Given the description of an element on the screen output the (x, y) to click on. 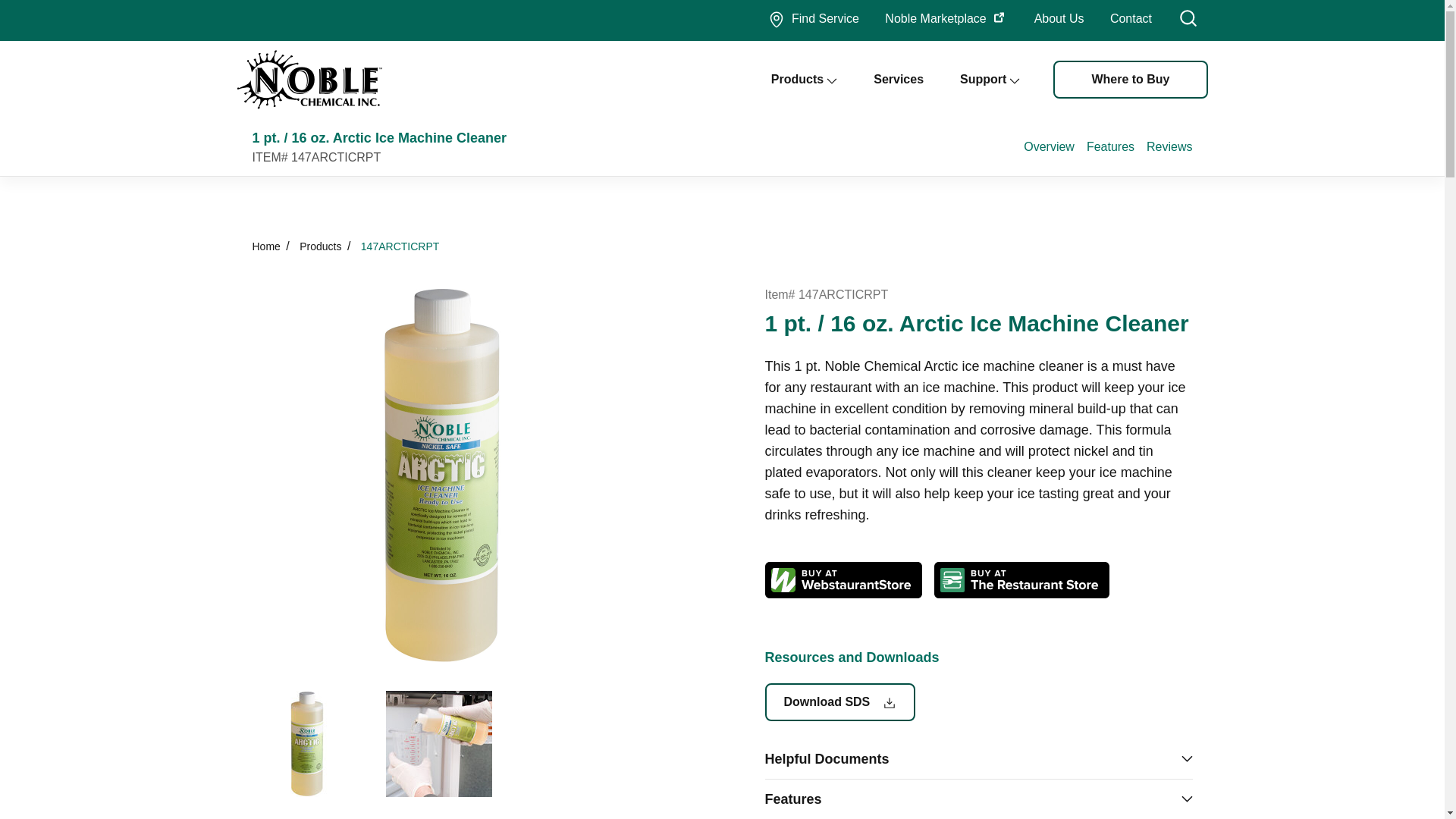
Find Service (812, 19)
Noble Marketplace (945, 19)
Products (804, 79)
Where to Buy (1129, 79)
Support (989, 79)
Contact (1131, 19)
Services (898, 78)
About Us (1058, 19)
